Given the description of an element on the screen output the (x, y) to click on. 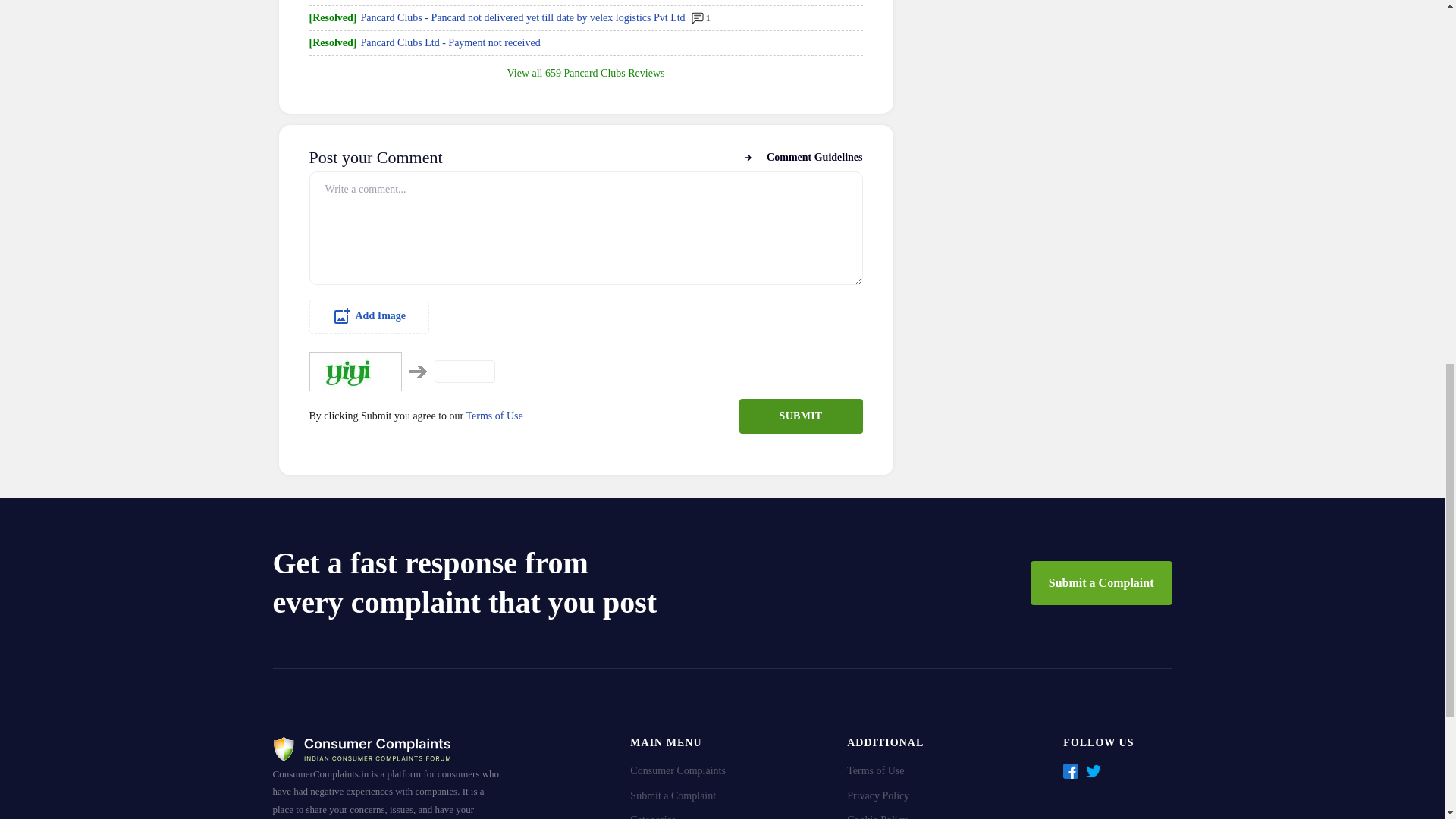
Submit a Complaint (1101, 583)
659 Pancard Clubs Reviews (603, 72)
Terms of Use (493, 415)
Comment Guidelines (802, 157)
